Given the description of an element on the screen output the (x, y) to click on. 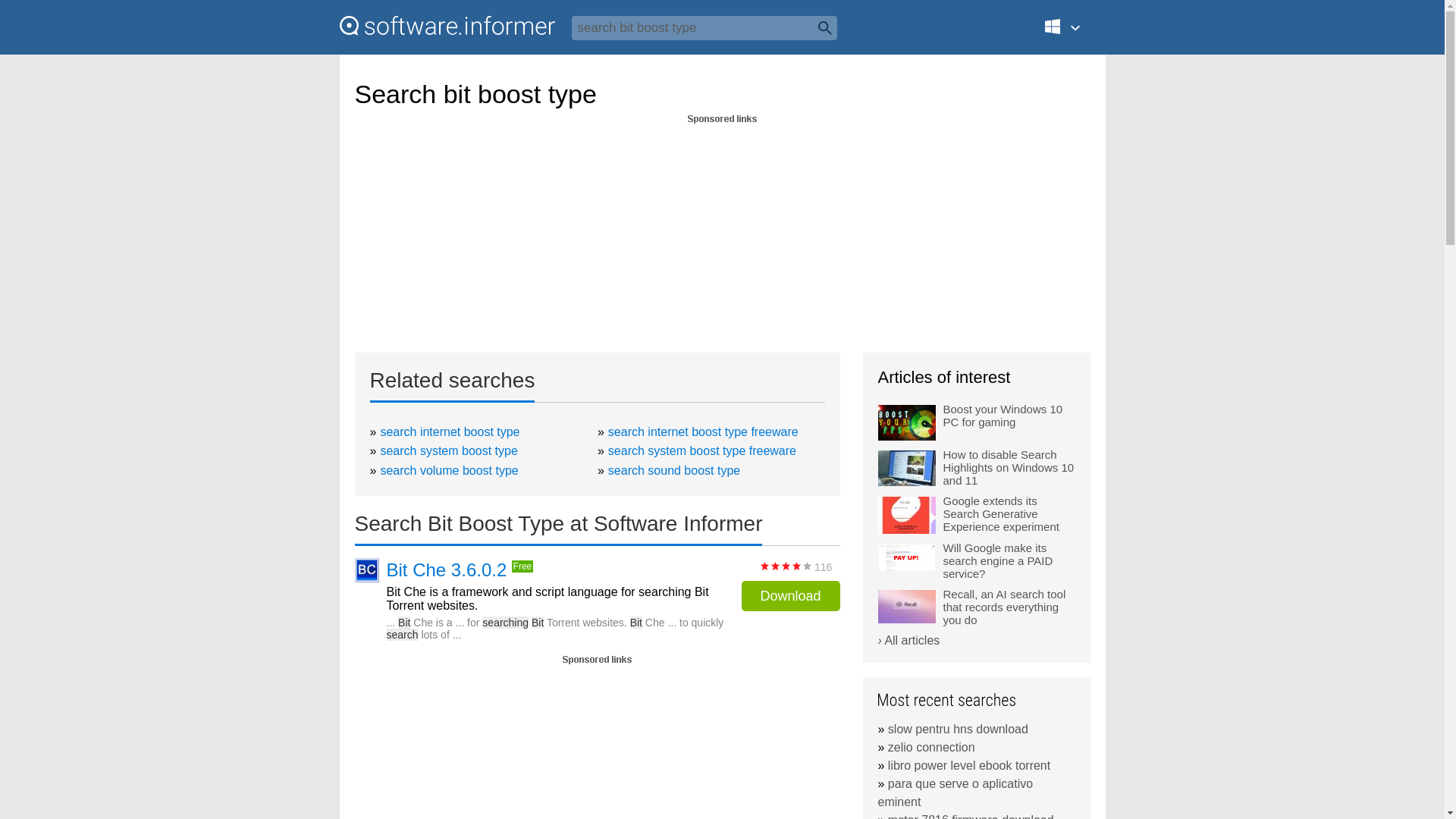
search system boost type (448, 450)
search bit boost type (704, 27)
Software downloads and reviews (446, 25)
Bit Che 3.6.0.2 (446, 569)
search system boost type freeware (702, 450)
Windows (1070, 33)
Bit Che 3.6.0.2 (446, 569)
search internet boost type (449, 431)
